Given the description of an element on the screen output the (x, y) to click on. 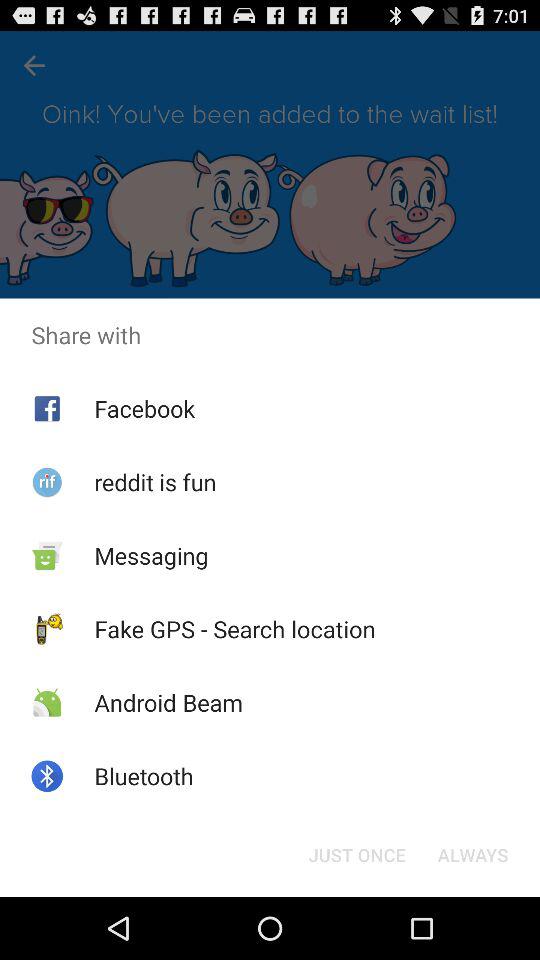
swipe to the android beam icon (168, 702)
